Given the description of an element on the screen output the (x, y) to click on. 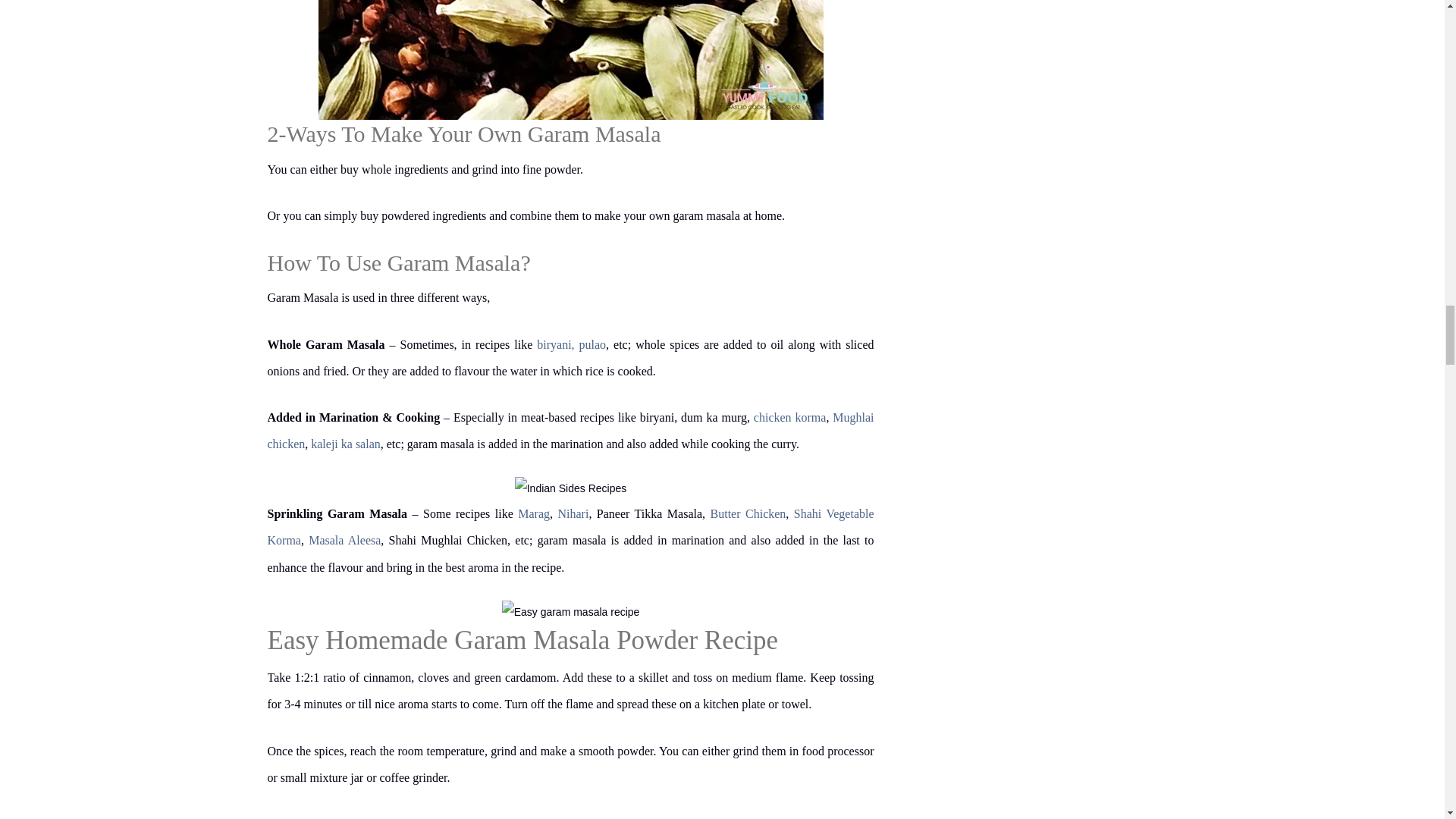
Marag (534, 513)
Mughlai chicken (569, 430)
Nihari (573, 513)
biryani, pulao (571, 344)
Masala Aleesa (344, 540)
Butter Chicken (748, 513)
kaleji ka salan (345, 443)
Shahi Vegetable Korma (569, 526)
chicken korma (790, 417)
